Given the description of an element on the screen output the (x, y) to click on. 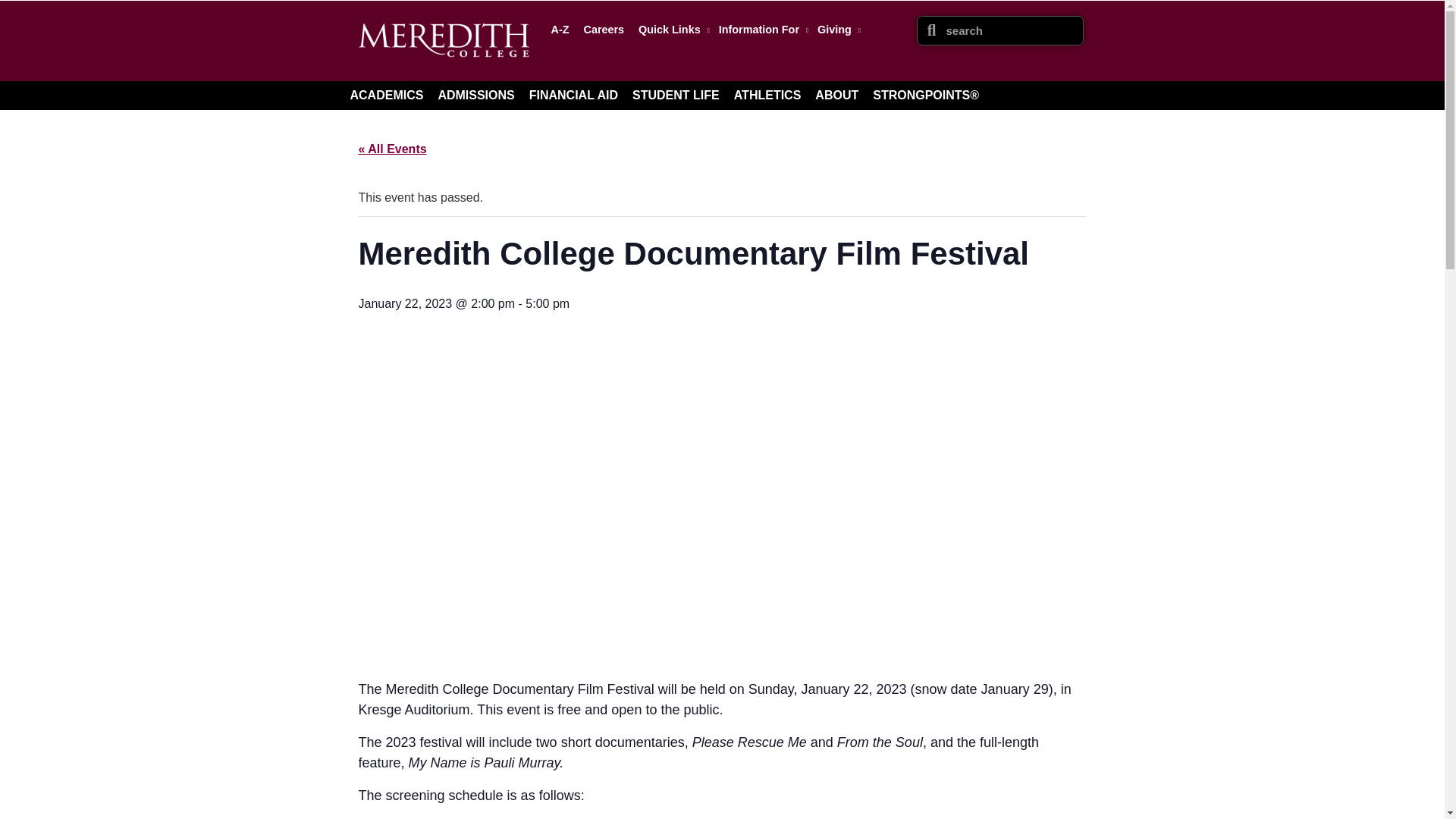
ATHLETICS (767, 95)
Giving (836, 29)
ADMISSIONS (475, 95)
STUDENT LIFE (675, 95)
ABOUT (837, 95)
Information For (760, 29)
FINANCIAL AID (573, 95)
ACADEMICS (386, 95)
A-Z (559, 29)
Quick Links (670, 29)
